Given the description of an element on the screen output the (x, y) to click on. 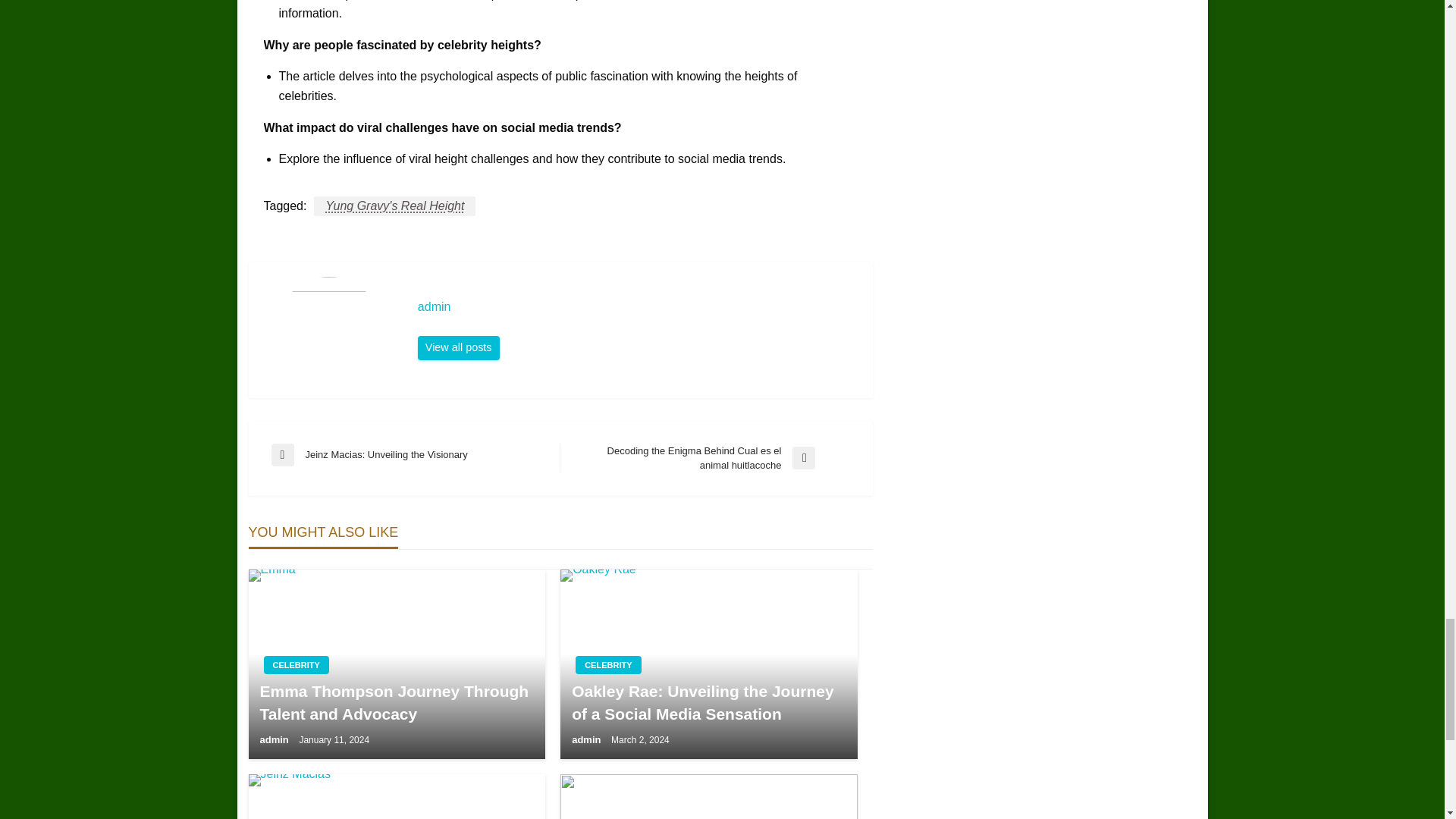
admin (275, 739)
admin (637, 306)
View all posts (458, 347)
CELEBRITY (415, 454)
admin (296, 665)
Yung Gravy's Real Height (458, 347)
Emma Thompson Journey Through Talent and Advocacy (395, 206)
admin (396, 702)
